Given the description of an element on the screen output the (x, y) to click on. 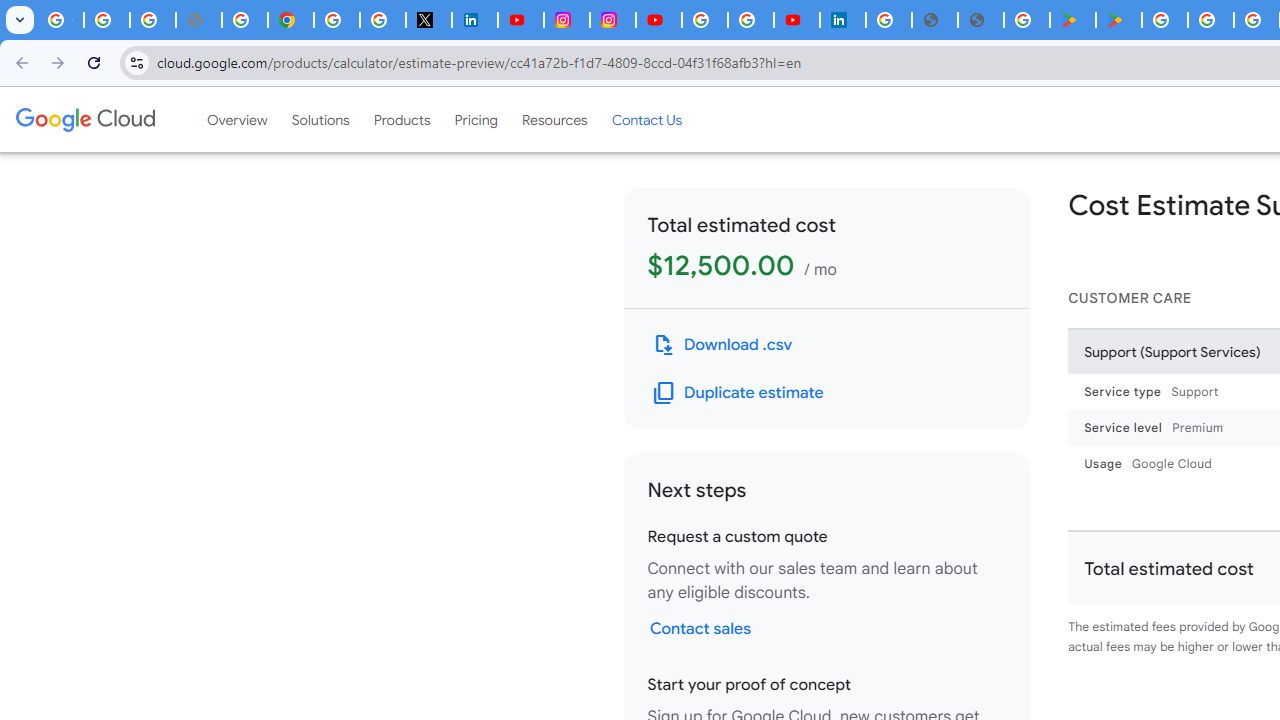
Download .csv file (722, 344)
Solutions (320, 119)
User Details (980, 20)
Duplicate this estimate (738, 392)
Contact sales (699, 628)
